Given the description of an element on the screen output the (x, y) to click on. 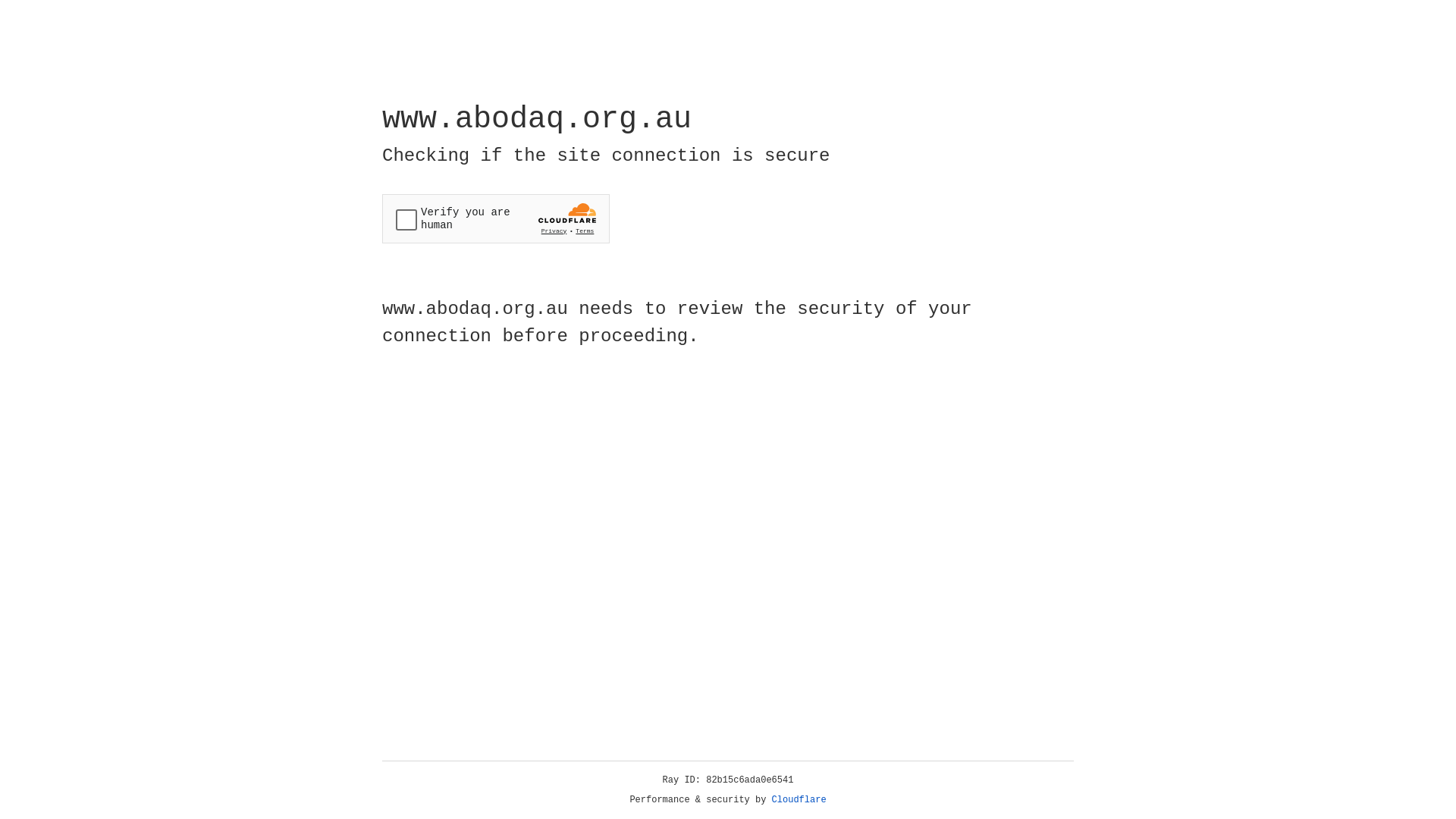
Cloudflare Element type: text (798, 799)
Widget containing a Cloudflare security challenge Element type: hover (495, 218)
